Given the description of an element on the screen output the (x, y) to click on. 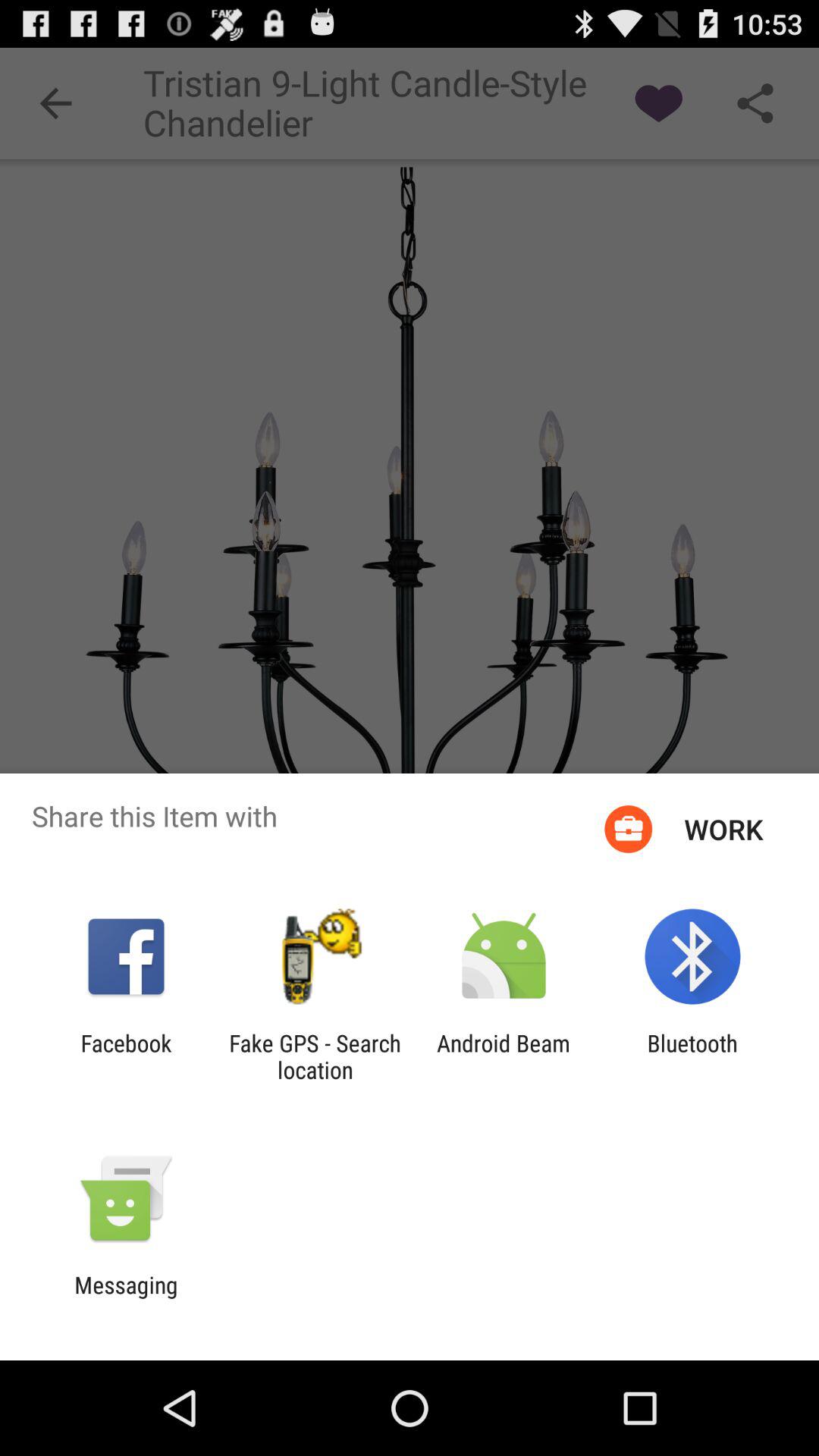
choose fake gps search app (314, 1056)
